Given the description of an element on the screen output the (x, y) to click on. 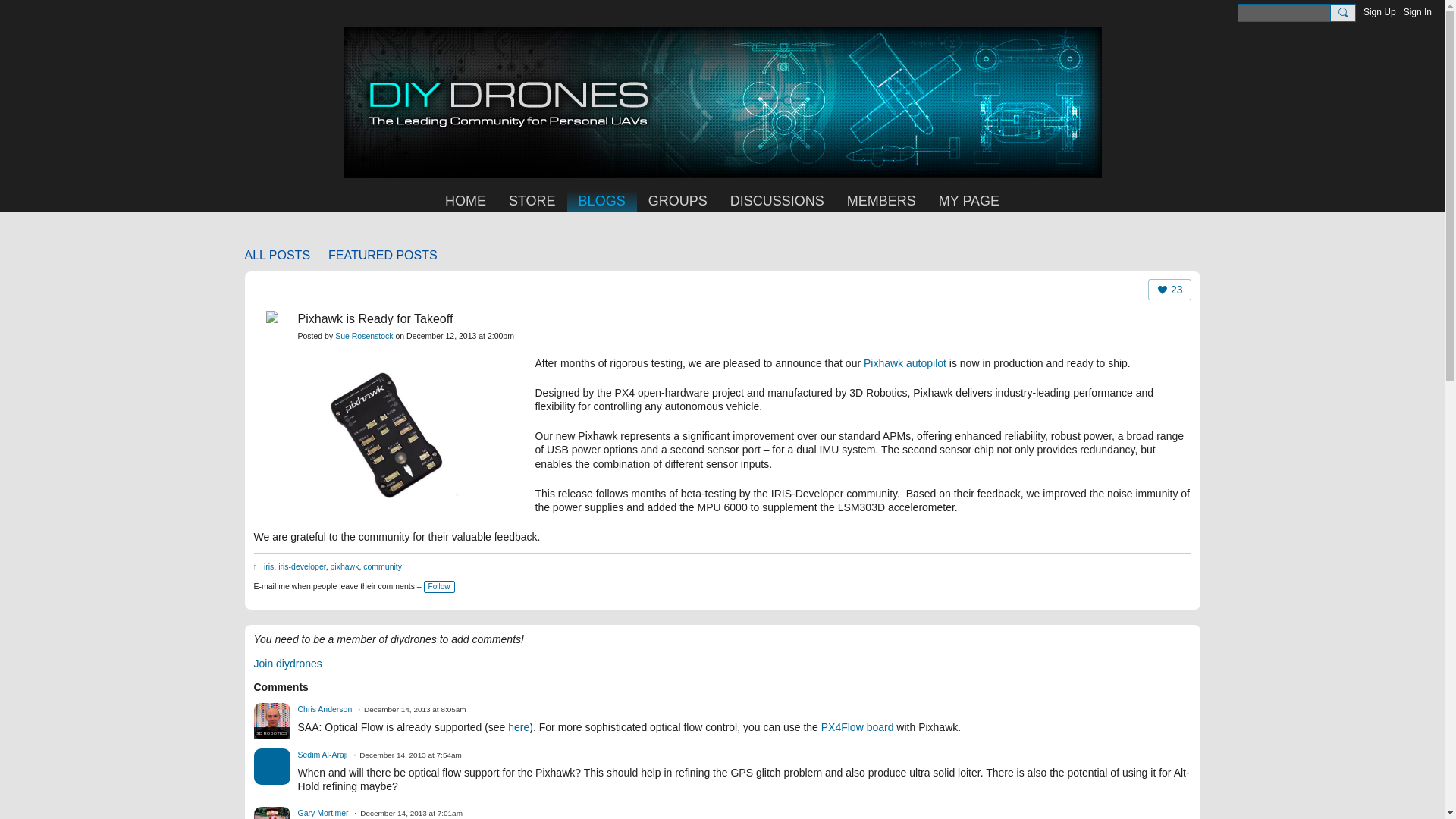
pixhawk (344, 565)
DISCUSSIONS (777, 200)
HOME (465, 200)
Follow (438, 586)
23 (1169, 289)
BLOGS (602, 200)
ALL POSTS (277, 255)
Join diydrones (287, 663)
Like (1169, 289)
GROUPS (678, 200)
MY PAGE (968, 200)
Sign Up (1379, 12)
FEATURED POSTS (383, 255)
Pixhawk is Ready for Takeoff (374, 318)
MEMBERS (881, 200)
